Given the description of an element on the screen output the (x, y) to click on. 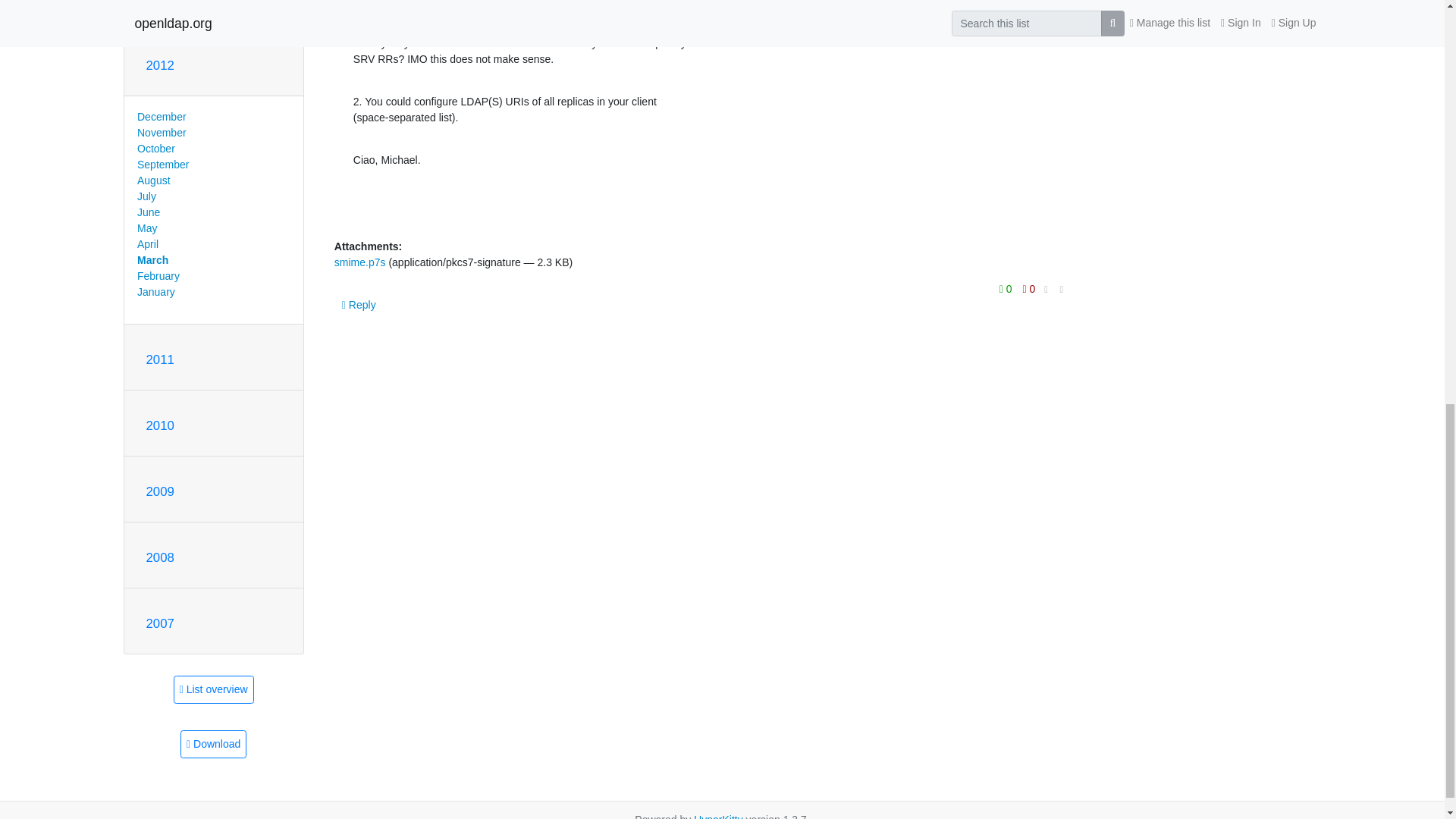
You must be logged-in to vote. (1007, 288)
This message in gzipped mbox format (213, 744)
You must be logged-in to vote. (1029, 288)
Sign in to reply online (359, 304)
Permalink for this message (1061, 289)
Display in fixed font (1046, 289)
